Given the description of an element on the screen output the (x, y) to click on. 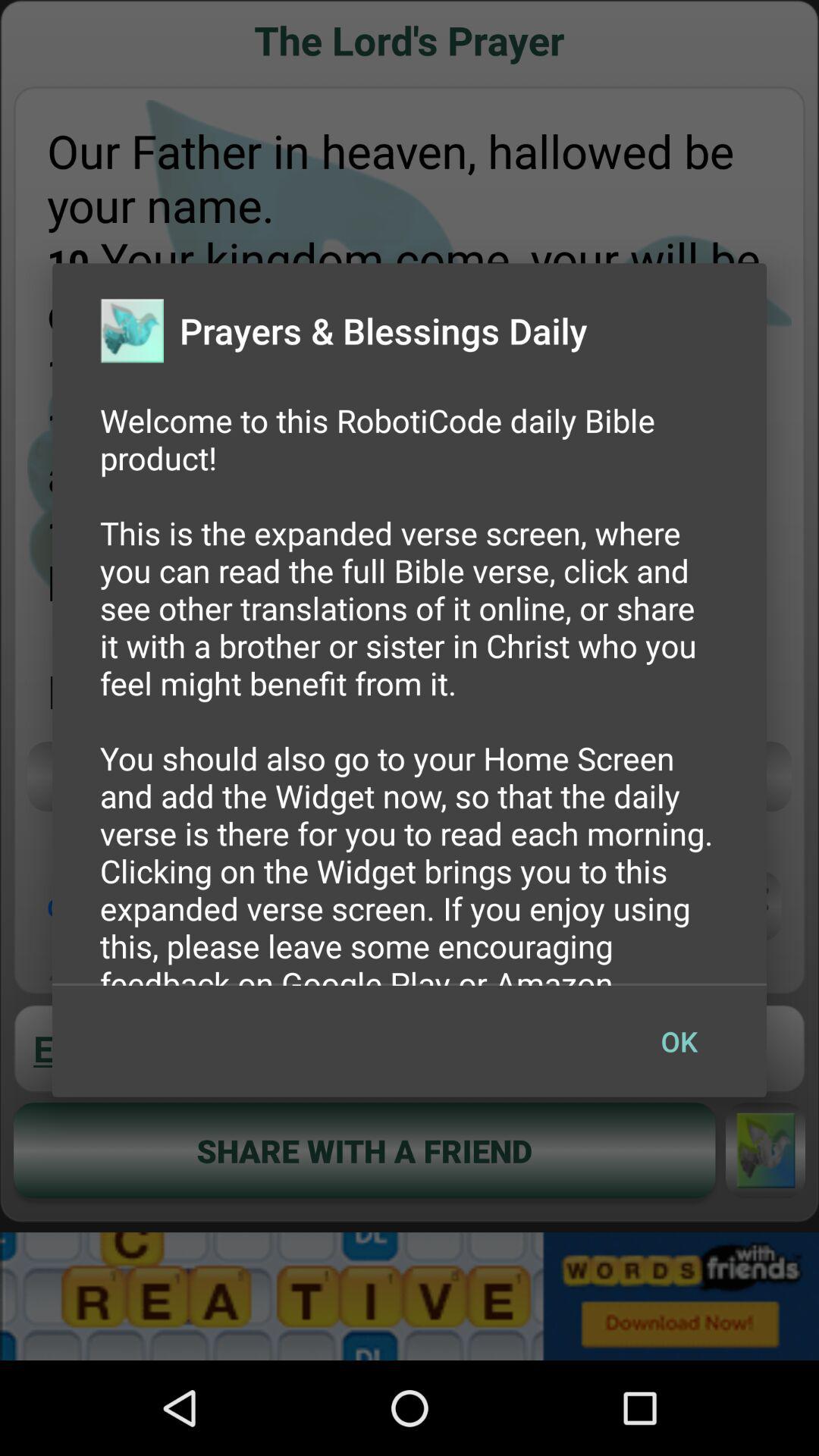
flip to ok (678, 1041)
